Given the description of an element on the screen output the (x, y) to click on. 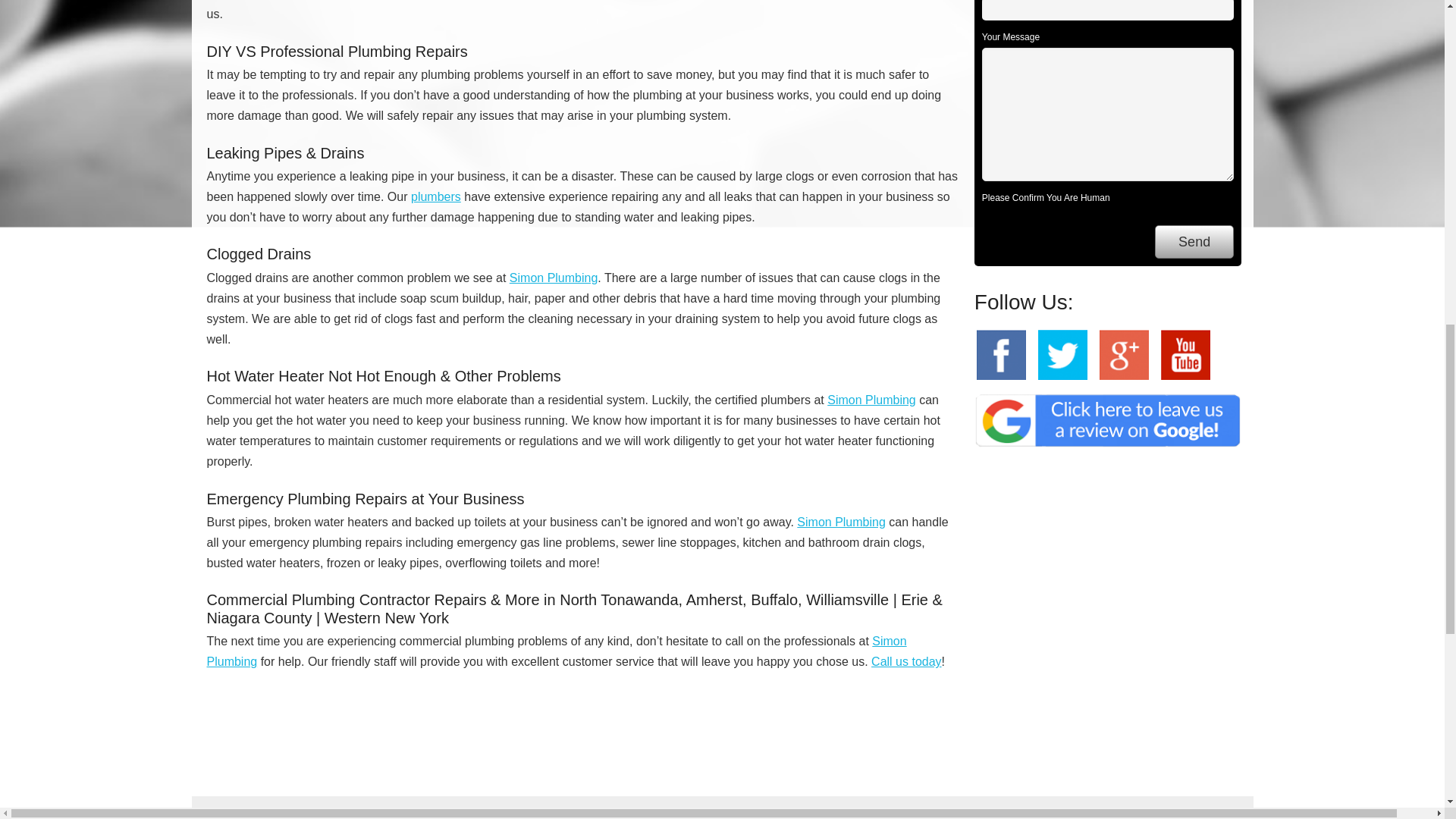
Simon Plumbing (553, 277)
plumbers (435, 196)
Simon Plumbing (555, 651)
Simon Plumbing (871, 399)
Call us today (906, 661)
Send (1193, 242)
Simon Plumbing (840, 521)
Send (1193, 242)
